Given the description of an element on the screen output the (x, y) to click on. 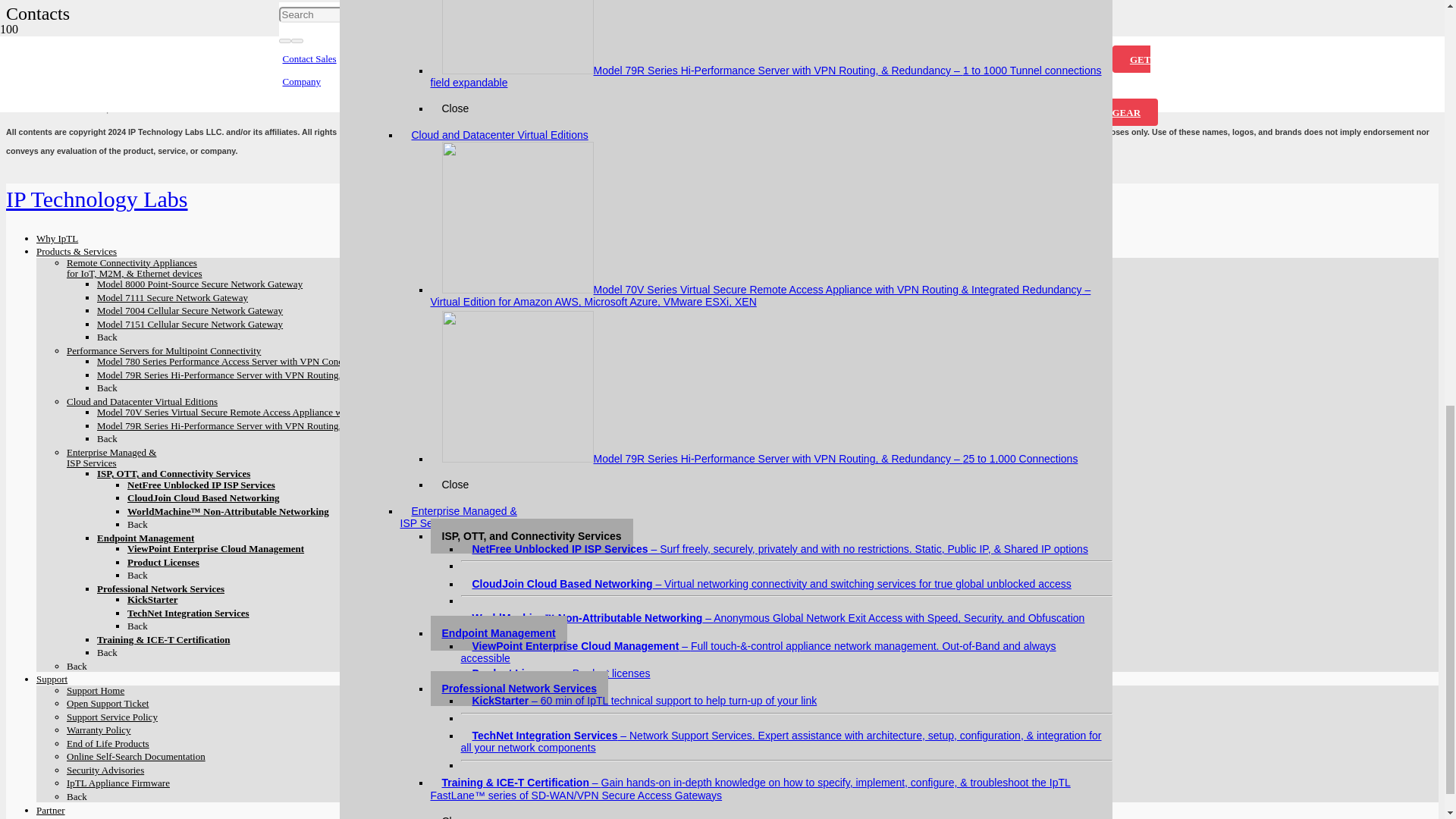
End of Life Products (428, 125)
Support (358, 50)
Support Service Policy (434, 94)
Open Support Ticket (429, 79)
Online Self-Search Documentation (462, 141)
Support Home (415, 63)
Warranty Policy (418, 110)
Available Product License Options (163, 562)
IpTL Appliance Firmware (439, 172)
Security Advisories (425, 156)
